Given the description of an element on the screen output the (x, y) to click on. 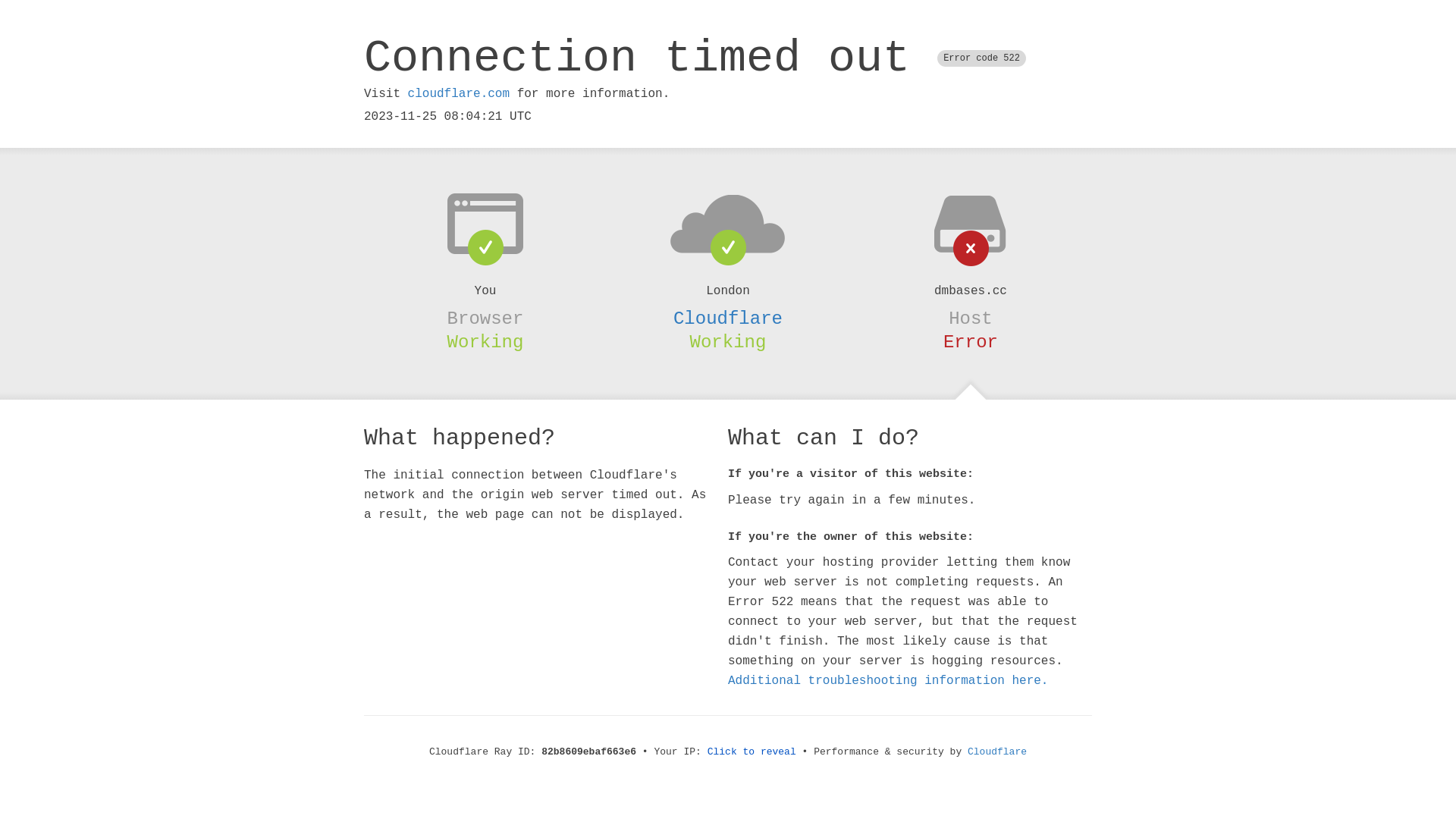
cloudflare.com Element type: text (458, 93)
Cloudflare Element type: text (727, 318)
Additional troubleshooting information here. Element type: text (888, 680)
Cloudflare Element type: text (996, 751)
Click to reveal Element type: text (751, 751)
